Given the description of an element on the screen output the (x, y) to click on. 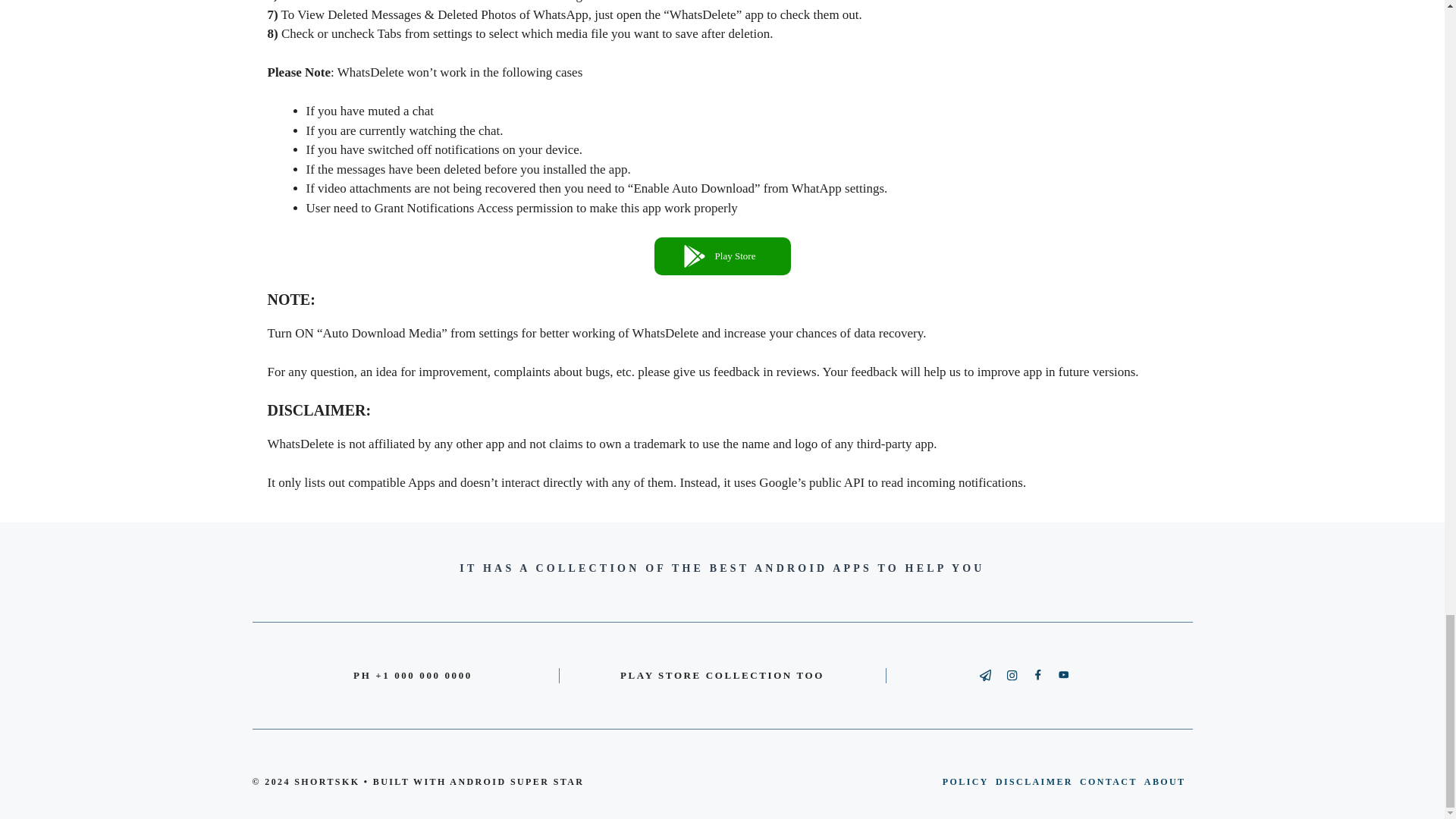
DISCLAIMER (1034, 781)
Play Store (721, 256)
ABOUT (1165, 781)
POLICY (965, 781)
CONTACT (1108, 781)
